Given the description of an element on the screen output the (x, y) to click on. 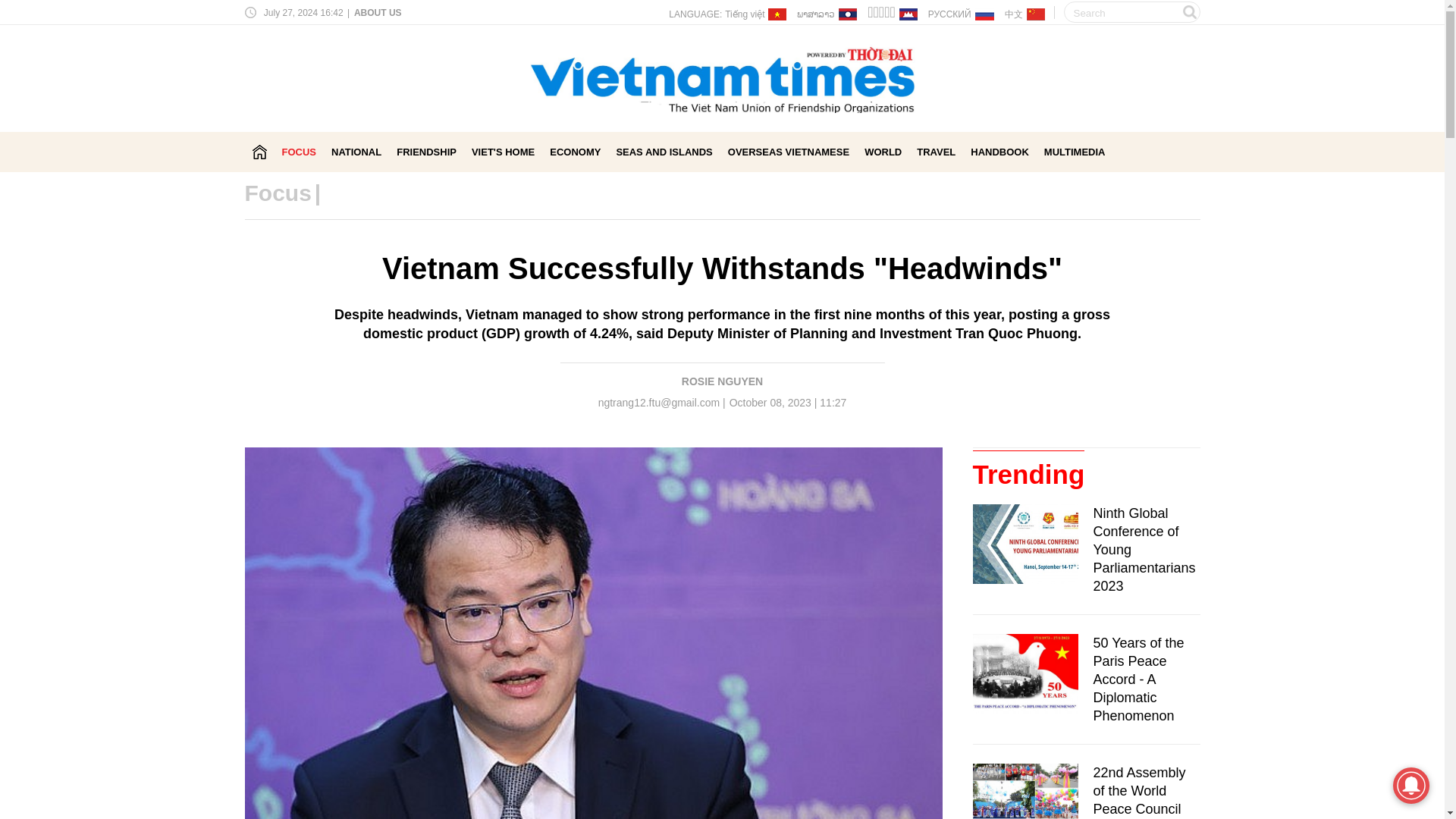
Vietnam Times (258, 151)
WORLD (882, 152)
FOCUS (299, 152)
NATIONAL (356, 152)
Focus (277, 192)
VIET'S HOME (502, 152)
ROSIE NGUYEN (721, 381)
FRIENDSHIP (426, 152)
ECONOMY (574, 152)
ABOUT US (376, 12)
SEAS AND ISLANDS (663, 152)
TRAVEL (936, 152)
OVERSEAS VIETNAMESE (788, 152)
HANDBOOK (1000, 152)
